Given the description of an element on the screen output the (x, y) to click on. 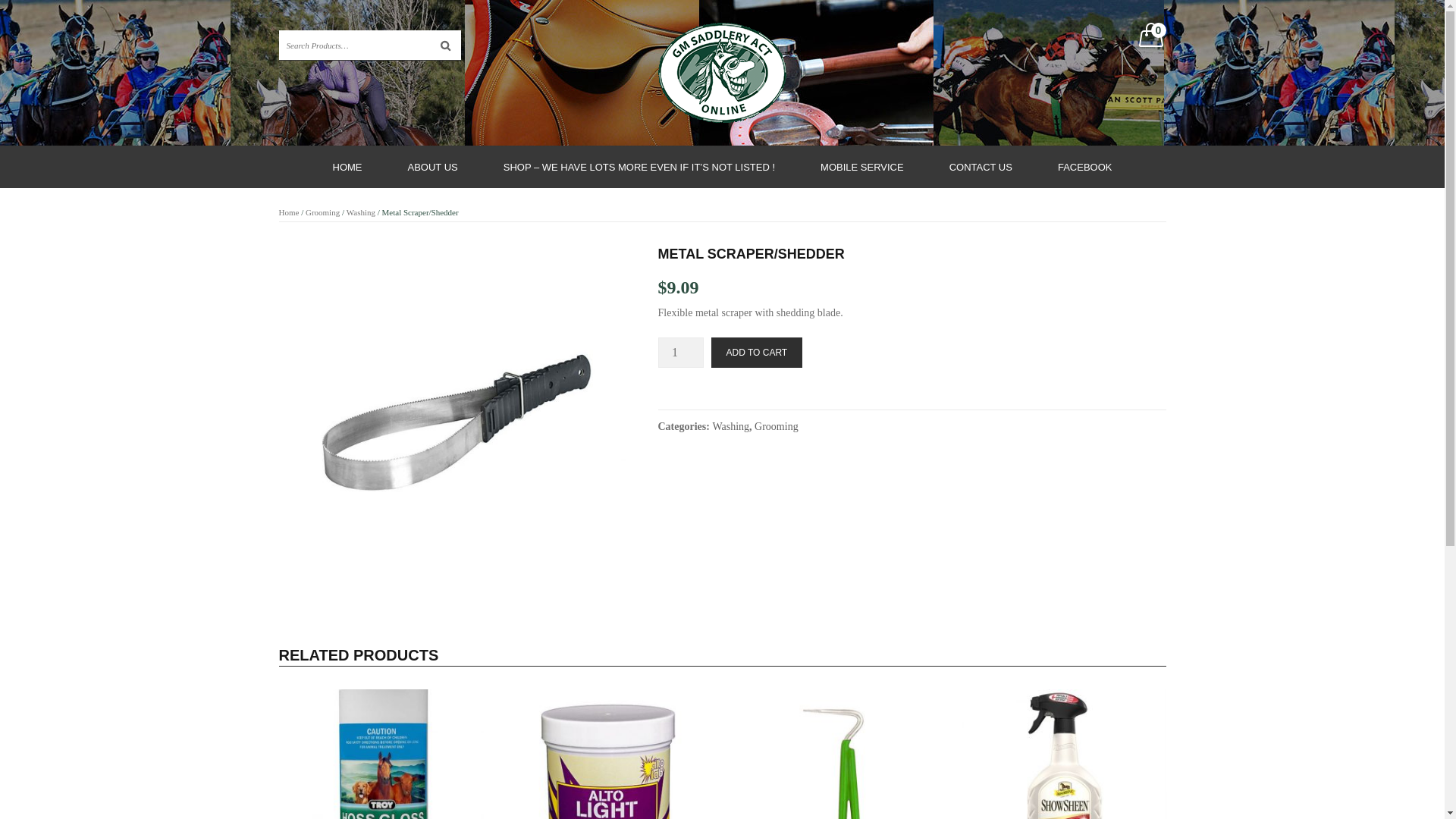
ABOUT US Element type: text (432, 167)
Grooming Element type: text (776, 426)
CONTACT US Element type: text (980, 167)
Search Element type: text (445, 45)
Search for: Element type: hover (370, 45)
horze-metal-scraper Element type: hover (457, 422)
HOME Element type: text (347, 167)
Washing Element type: text (360, 212)
0 Element type: text (1150, 37)
Glen Mia Saddlery Element type: hover (722, 71)
Qty Element type: hover (680, 352)
FACEBOOK Element type: text (1085, 167)
Grooming Element type: text (322, 212)
MOBILE SERVICE Element type: text (861, 167)
Washing Element type: text (730, 426)
ADD TO CART Element type: text (757, 352)
Home Element type: text (289, 212)
